Given the description of an element on the screen output the (x, y) to click on. 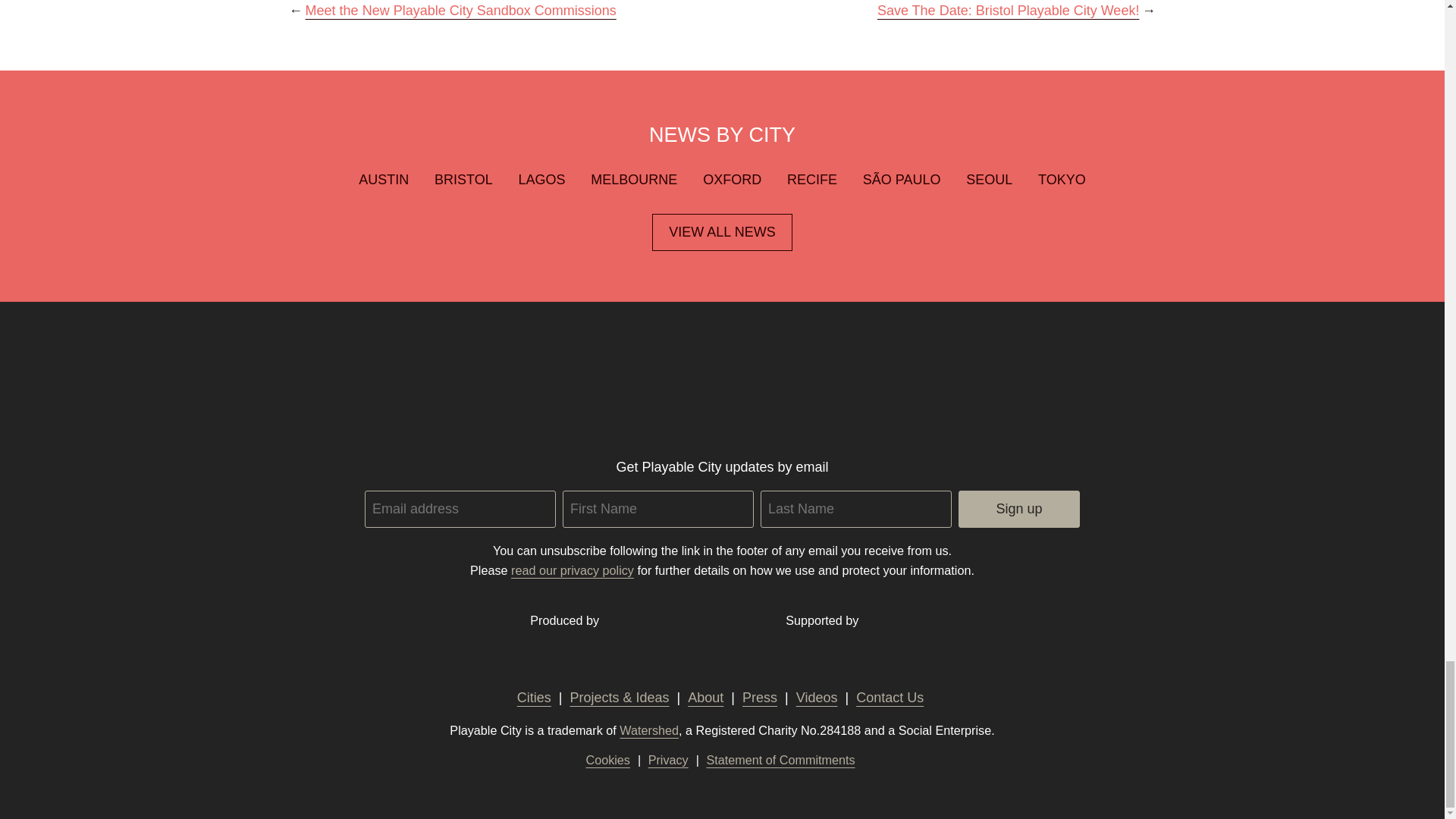
Playable City on Vimeo (681, 412)
Playable City on Twitter (681, 379)
Meet the New Playable City Sandbox Commissions (460, 10)
Save The Date: Bristol Playable City Week! (1008, 10)
VIEW ALL NEWS (722, 231)
Sign up (1019, 508)
SEOUL (988, 179)
MELBOURNE (634, 179)
OXFORD (732, 179)
LAGOS (542, 179)
